Given the description of an element on the screen output the (x, y) to click on. 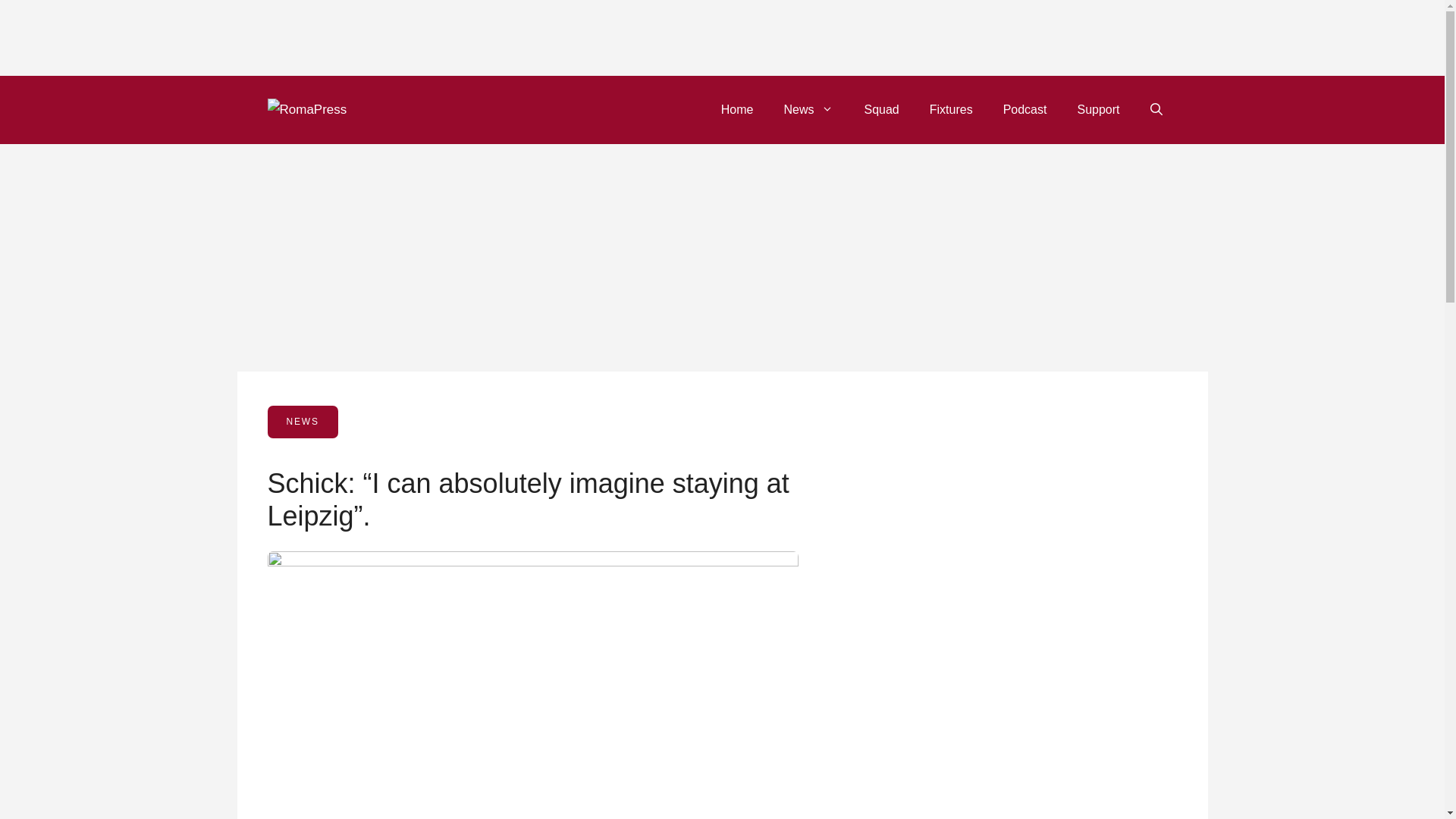
Home (737, 109)
Fixtures (951, 109)
Squad (881, 109)
Podcast (1025, 109)
News (808, 109)
Support (1097, 109)
